Given the description of an element on the screen output the (x, y) to click on. 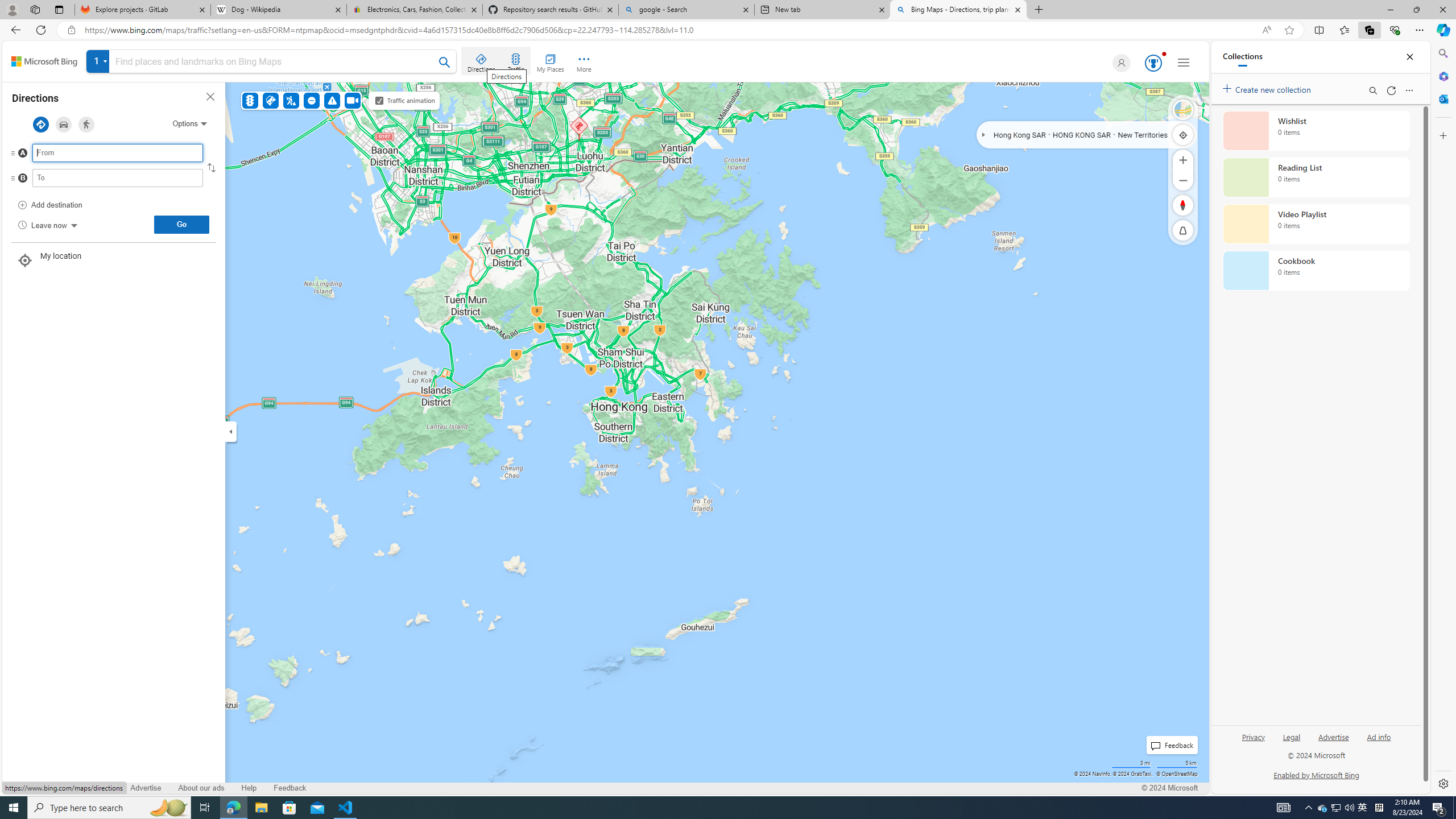
Construction (290, 100)
More (583, 60)
Directions (481, 60)
Privacy and Cookies (44, 787)
Class: sbElement (43, 60)
Accidents (270, 100)
Search Bing Maps (444, 61)
Ad info (1378, 741)
